Given the description of an element on the screen output the (x, y) to click on. 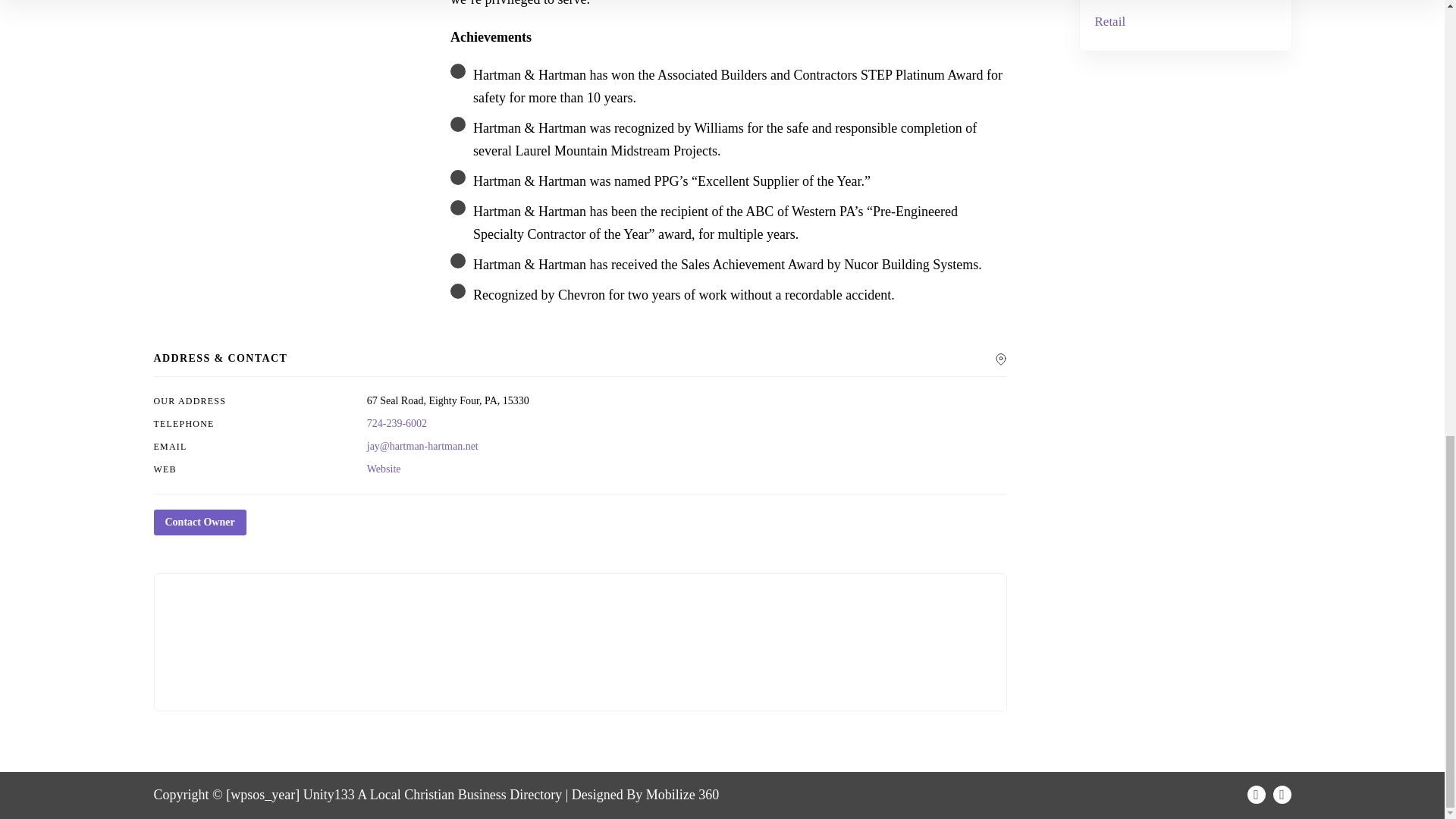
Contact Owner (199, 522)
Website (383, 469)
724-239-6002 (396, 423)
